Given the description of an element on the screen output the (x, y) to click on. 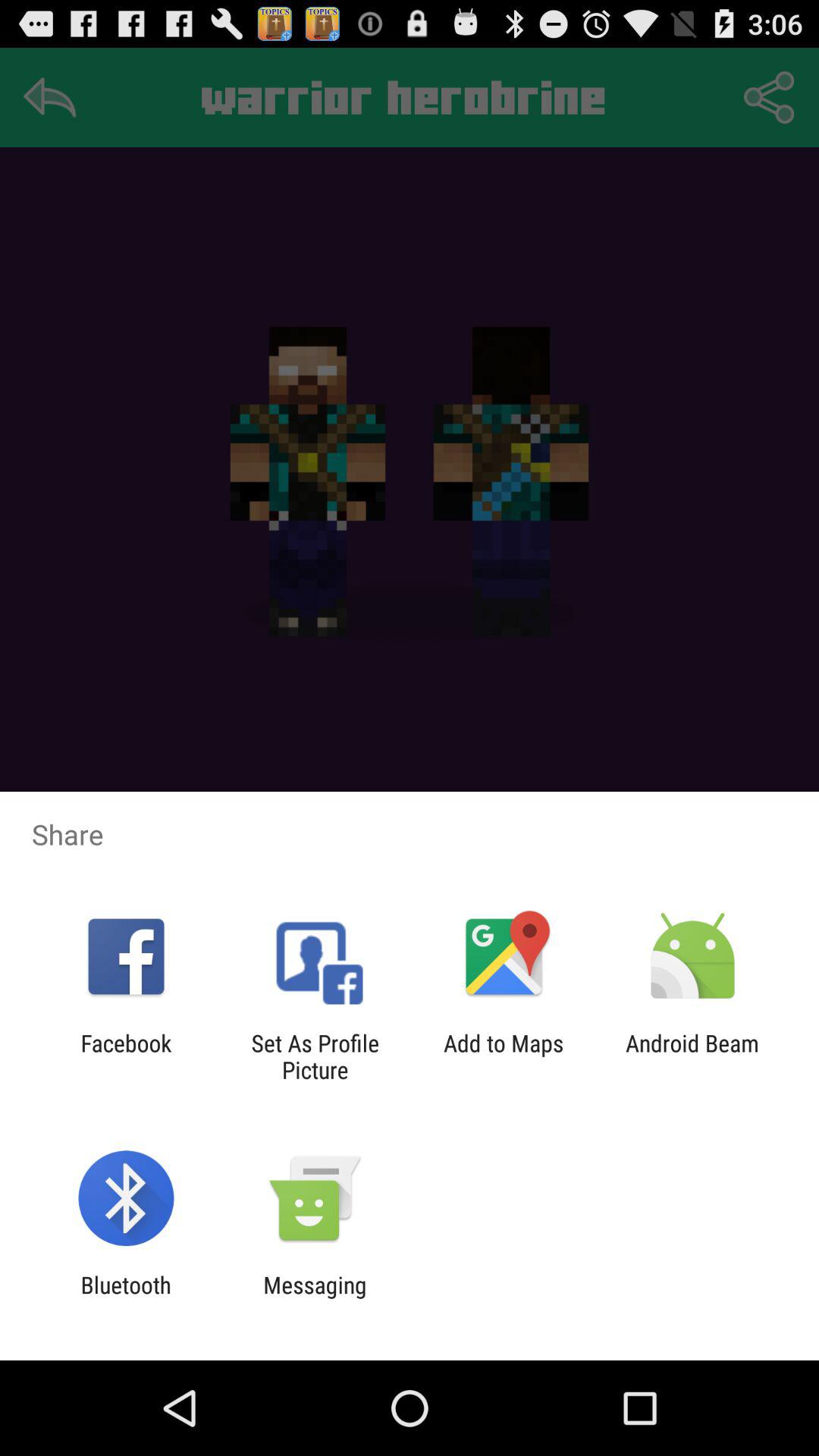
select item next to add to maps icon (692, 1056)
